Given the description of an element on the screen output the (x, y) to click on. 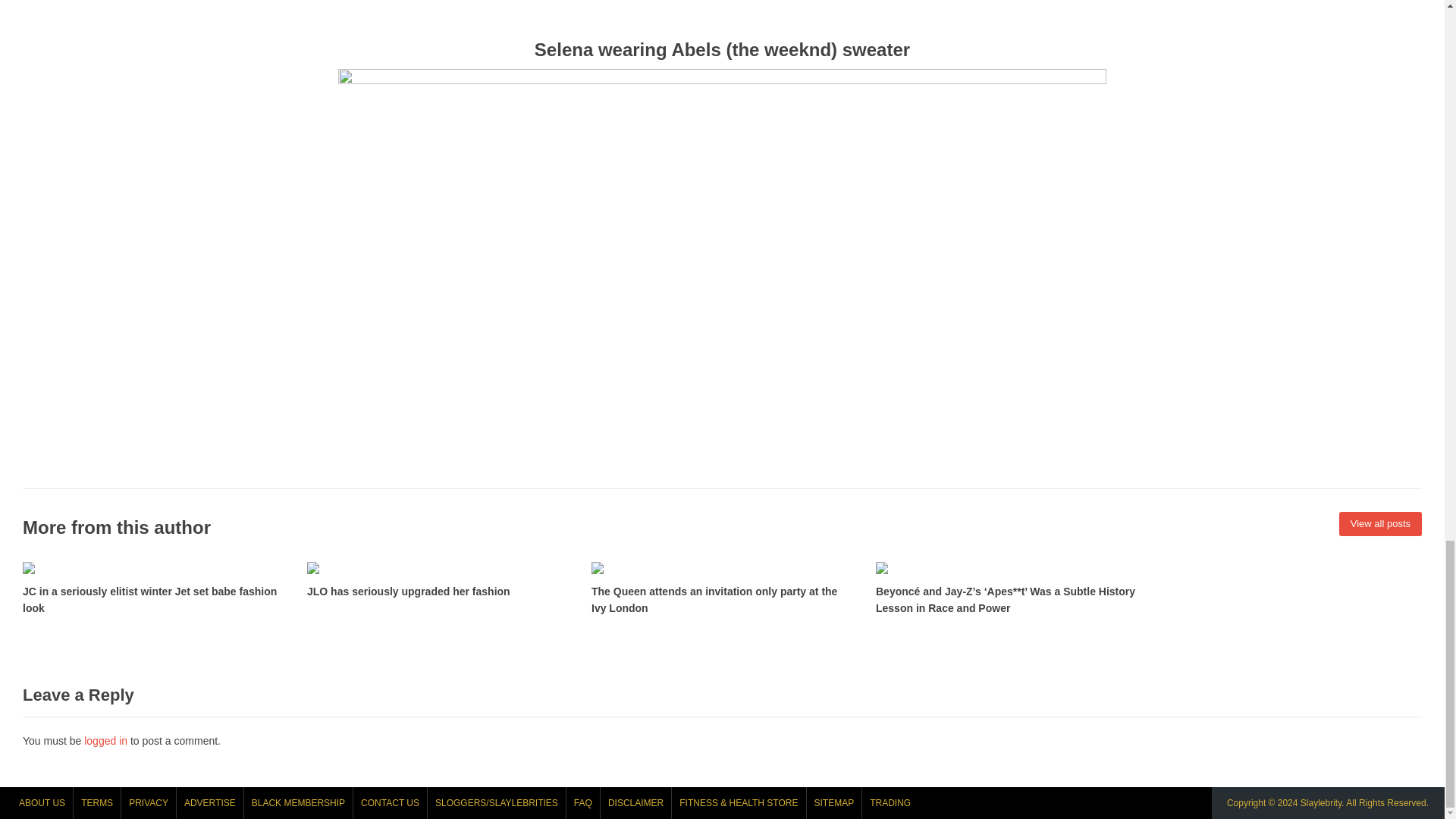
The Queen attends an invitation only party at the Ivy London (722, 587)
View all posts (1380, 523)
JLO has seriously upgraded her fashion (438, 578)
logged in (106, 740)
